Given the description of an element on the screen output the (x, y) to click on. 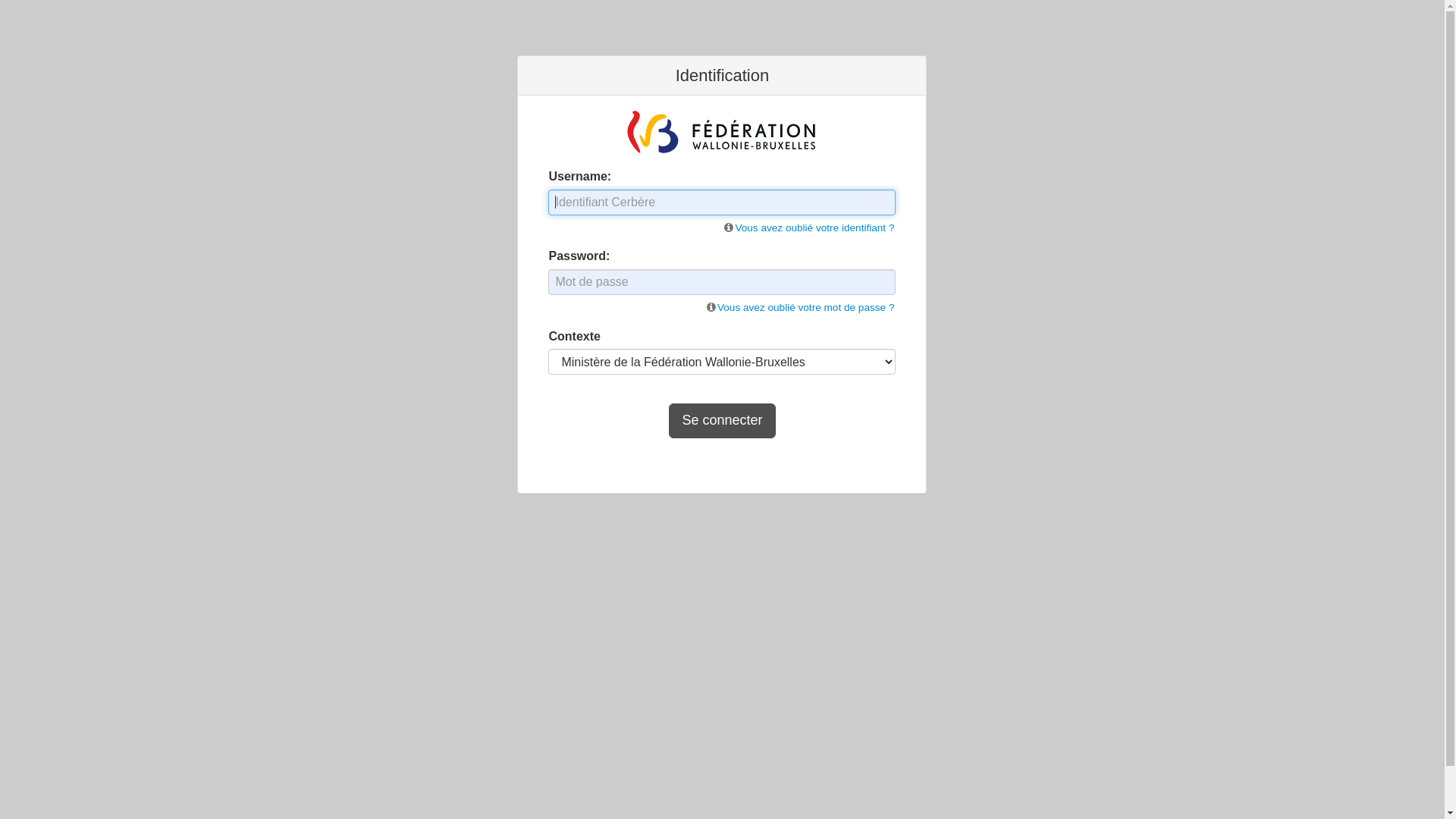
Se connecter Element type: text (721, 420)
